Given the description of an element on the screen output the (x, y) to click on. 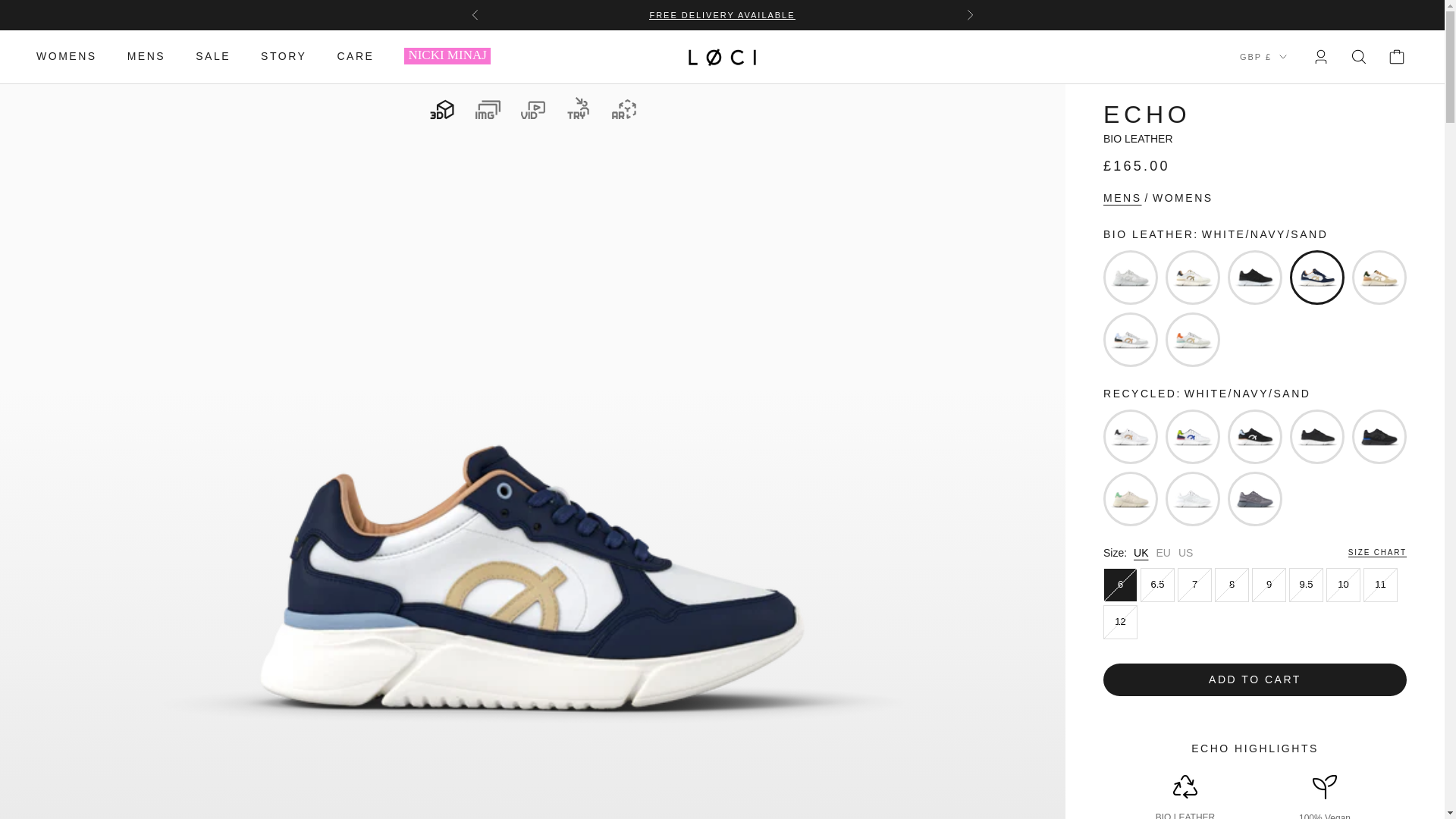
FREE DELIVERY AVAILABLE (721, 14)
Delivery (721, 14)
